Given the description of an element on the screen output the (x, y) to click on. 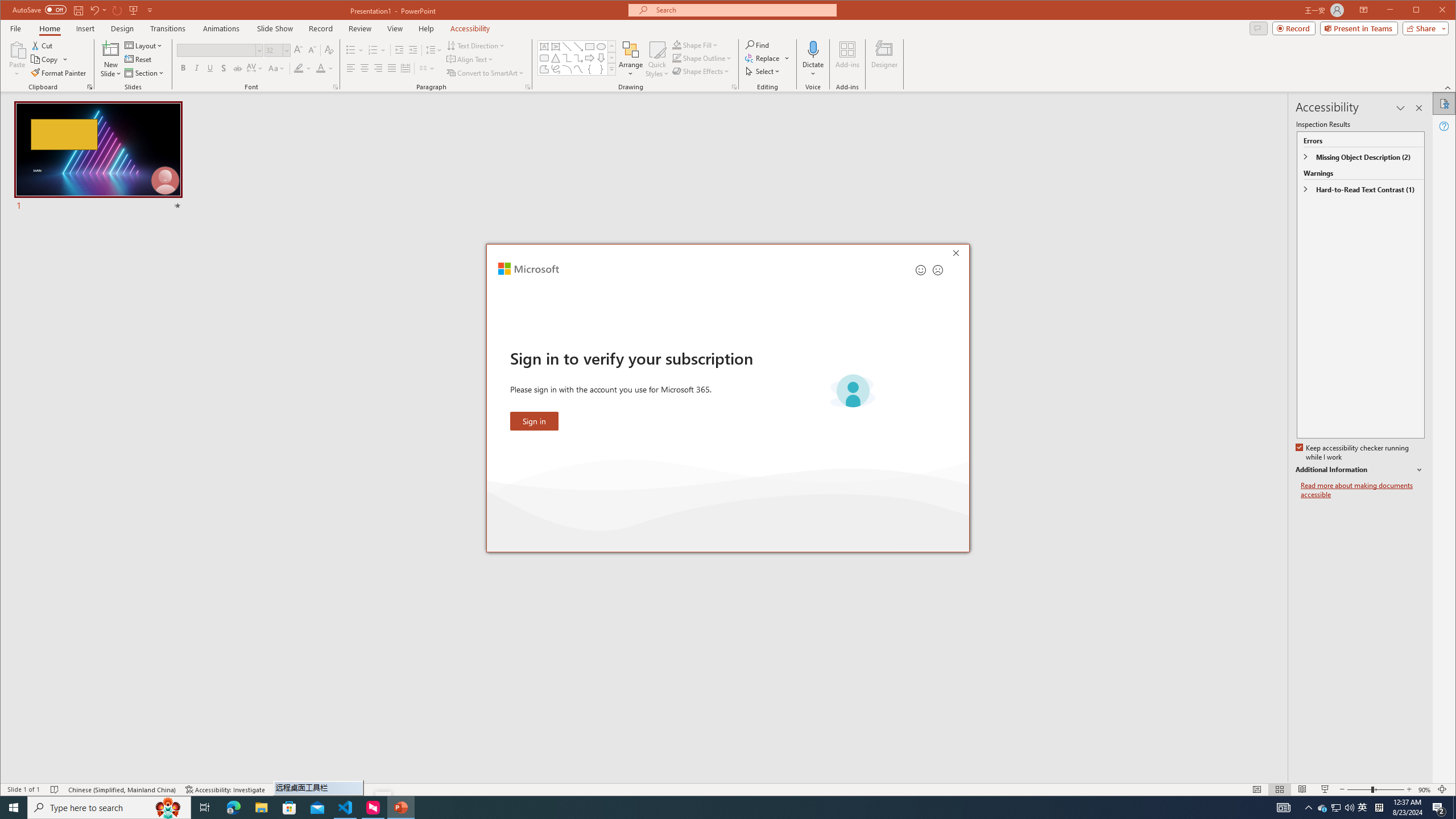
Send a smile for feedback (920, 269)
